Given the description of an element on the screen output the (x, y) to click on. 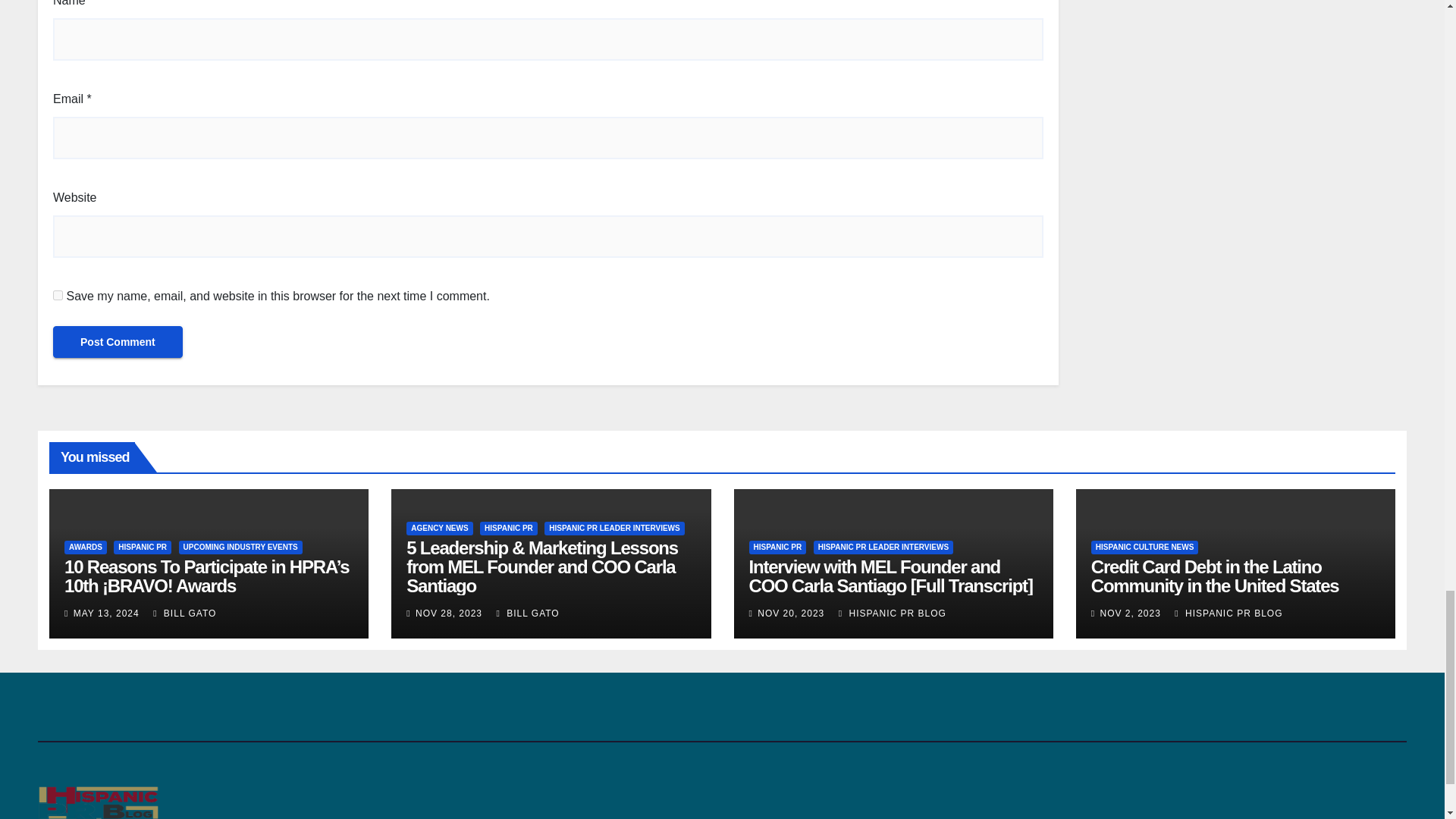
Post Comment (117, 341)
yes (57, 295)
